Given the description of an element on the screen output the (x, y) to click on. 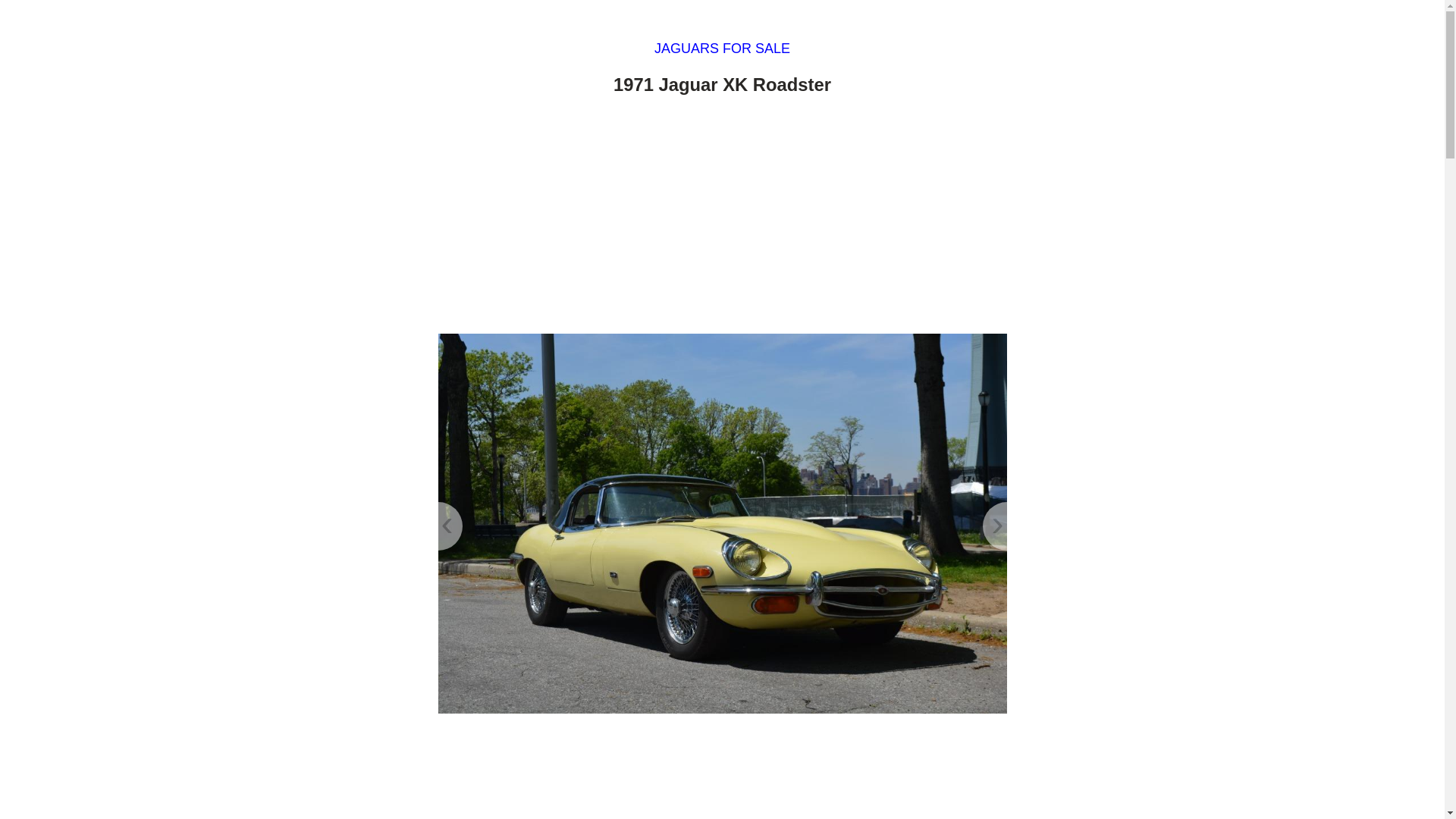
Advertisement (722, 772)
JAGUARS FOR SALE (721, 48)
Advertisement (722, 218)
